Given the description of an element on the screen output the (x, y) to click on. 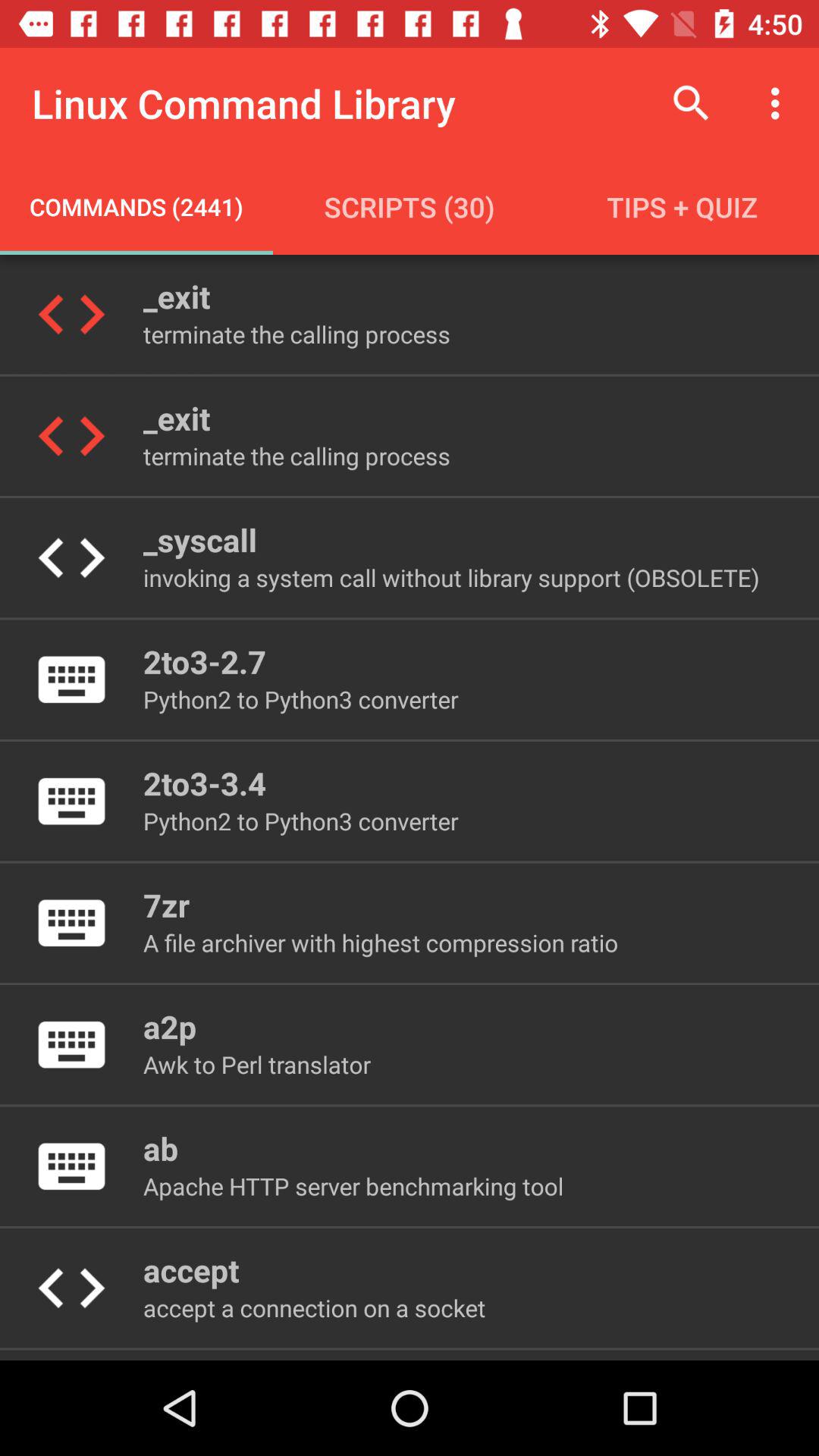
scroll to invoking a system (451, 577)
